Given the description of an element on the screen output the (x, y) to click on. 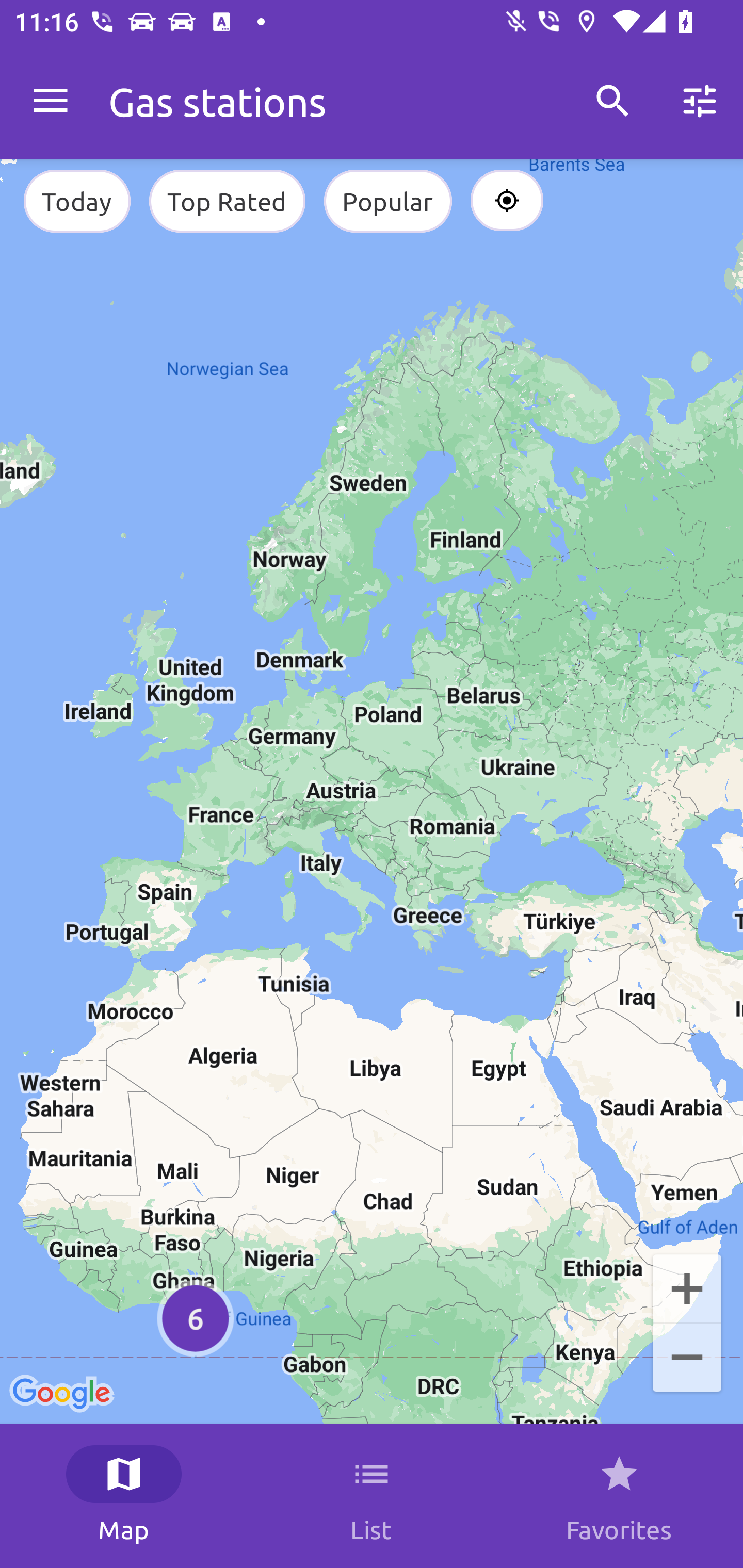
Fuelio (50, 101)
Search (612, 101)
Filter (699, 101)
Today (76, 201)
Top Rated (227, 201)
Popular (388, 201)
Selected (506, 201)
Zoom in (687, 1287)
Zoom out (687, 1359)
